Given the description of an element on the screen output the (x, y) to click on. 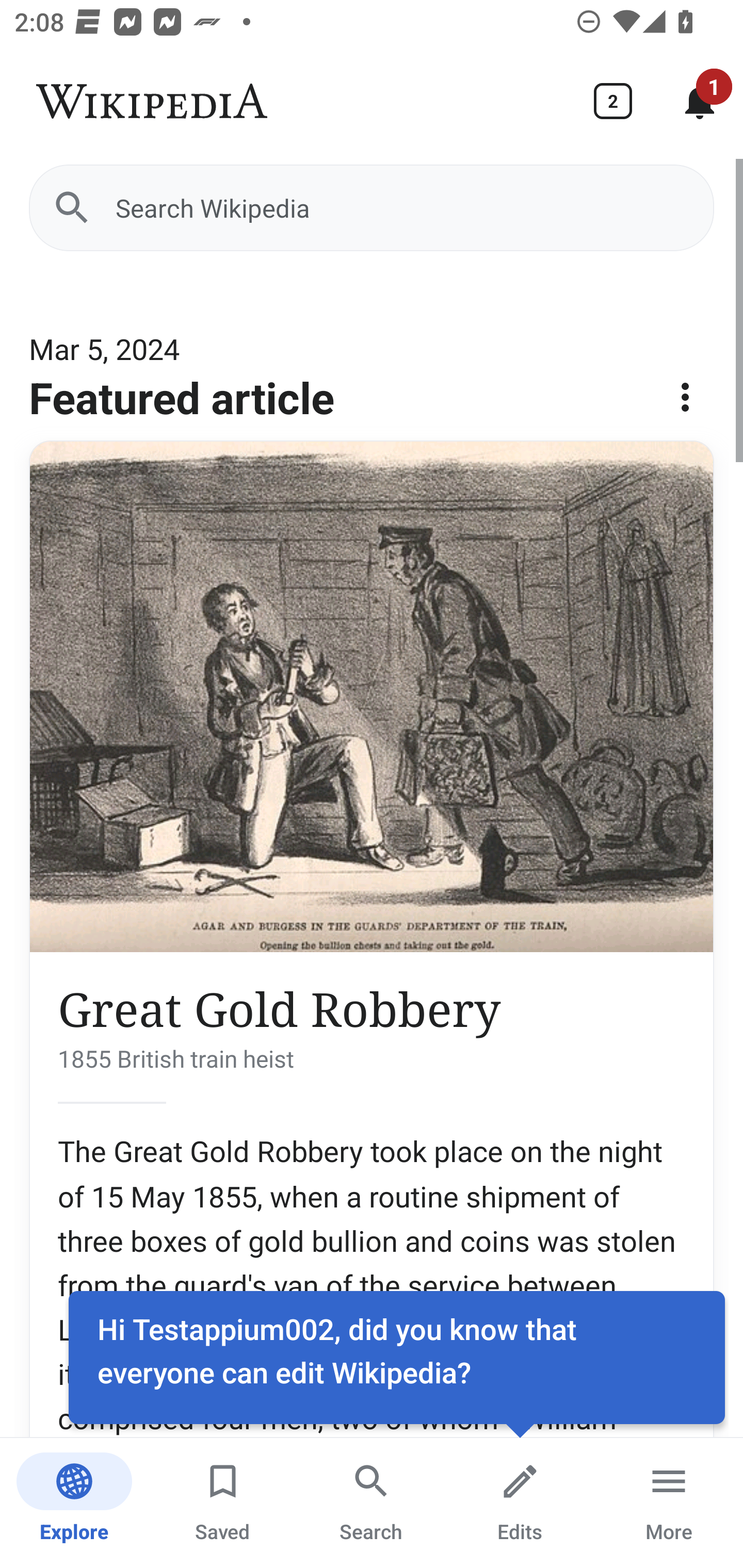
Show tabs 2 (612, 101)
Notifications 1 (699, 101)
Search Wikipedia (371, 207)
More options (684, 404)
Saved (222, 1502)
Search (371, 1502)
Edits (519, 1502)
More (668, 1502)
